Given the description of an element on the screen output the (x, y) to click on. 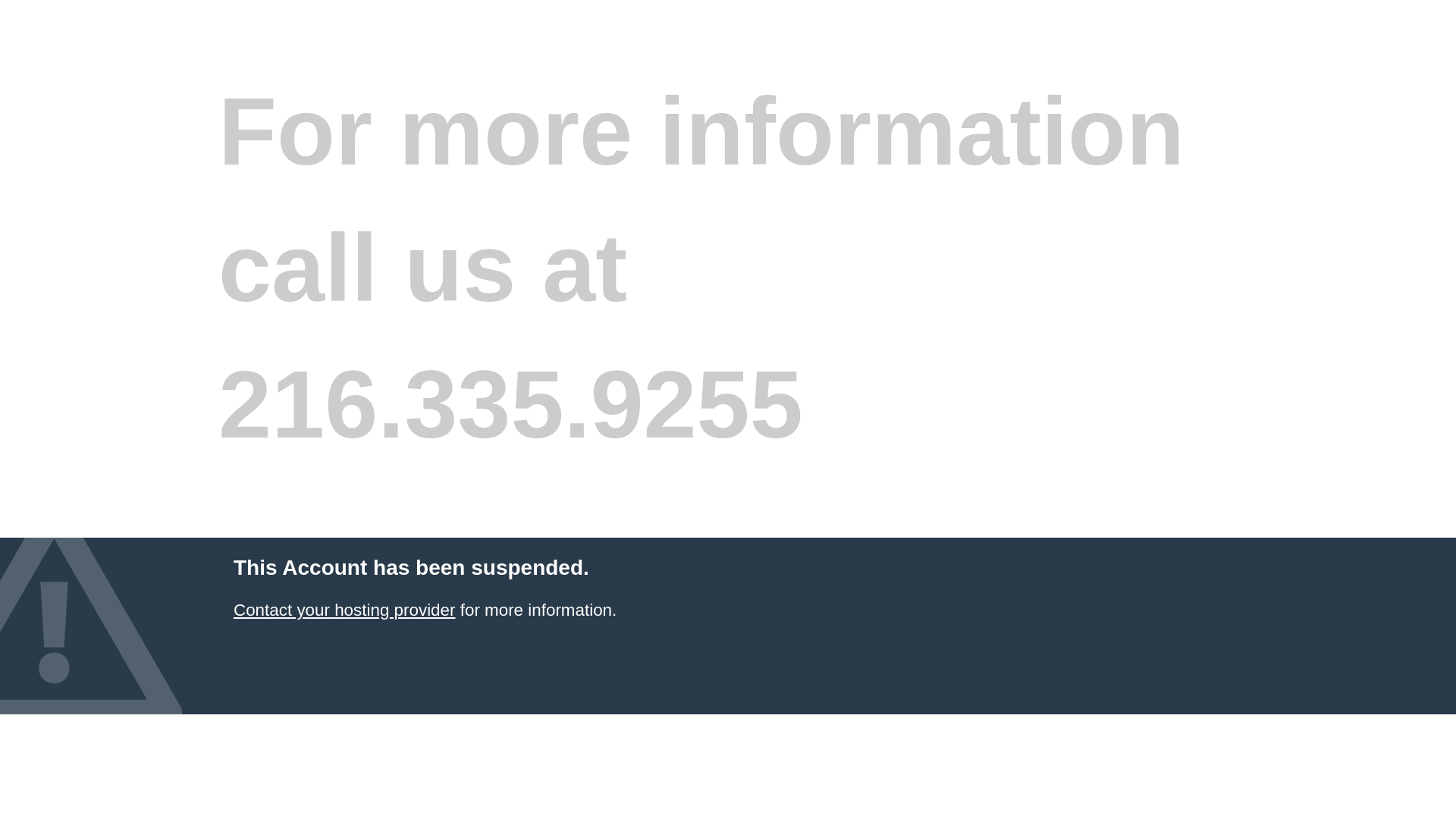
Contact your hosting provider Element type: text (344, 609)
